Given the description of an element on the screen output the (x, y) to click on. 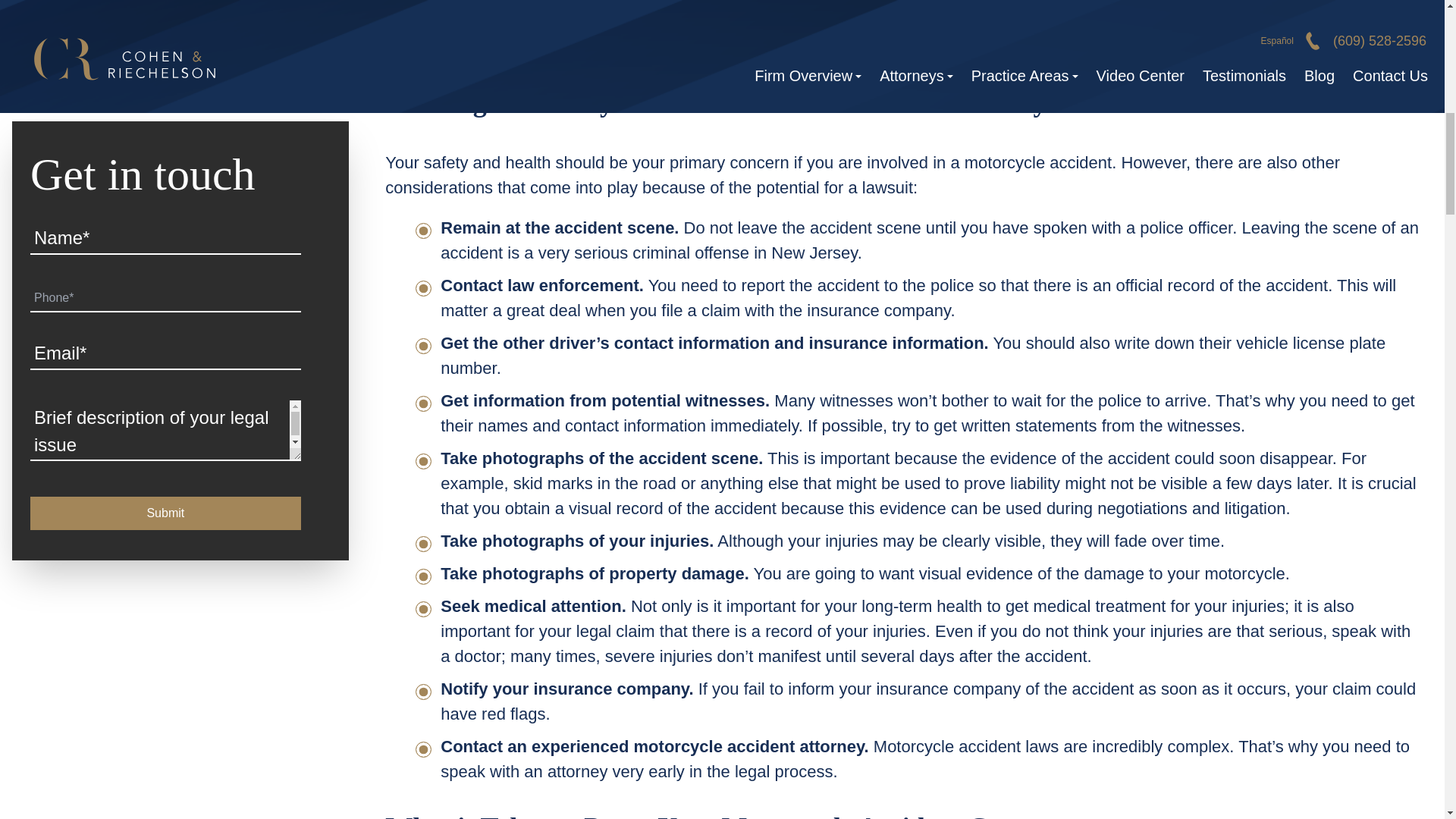
Submit (165, 367)
